Given the description of an element on the screen output the (x, y) to click on. 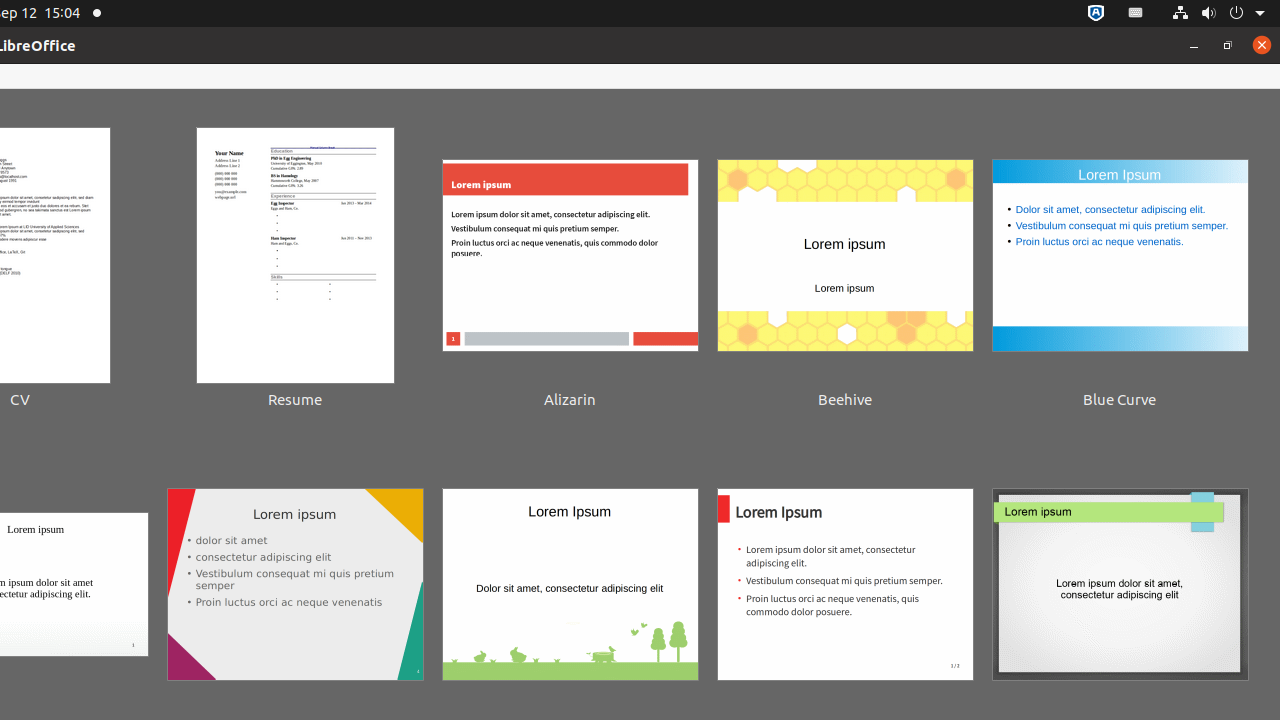
:1.21/StatusNotifierItem Element type: menu (1136, 13)
Beehive Element type: list-item (845, 270)
